Given the description of an element on the screen output the (x, y) to click on. 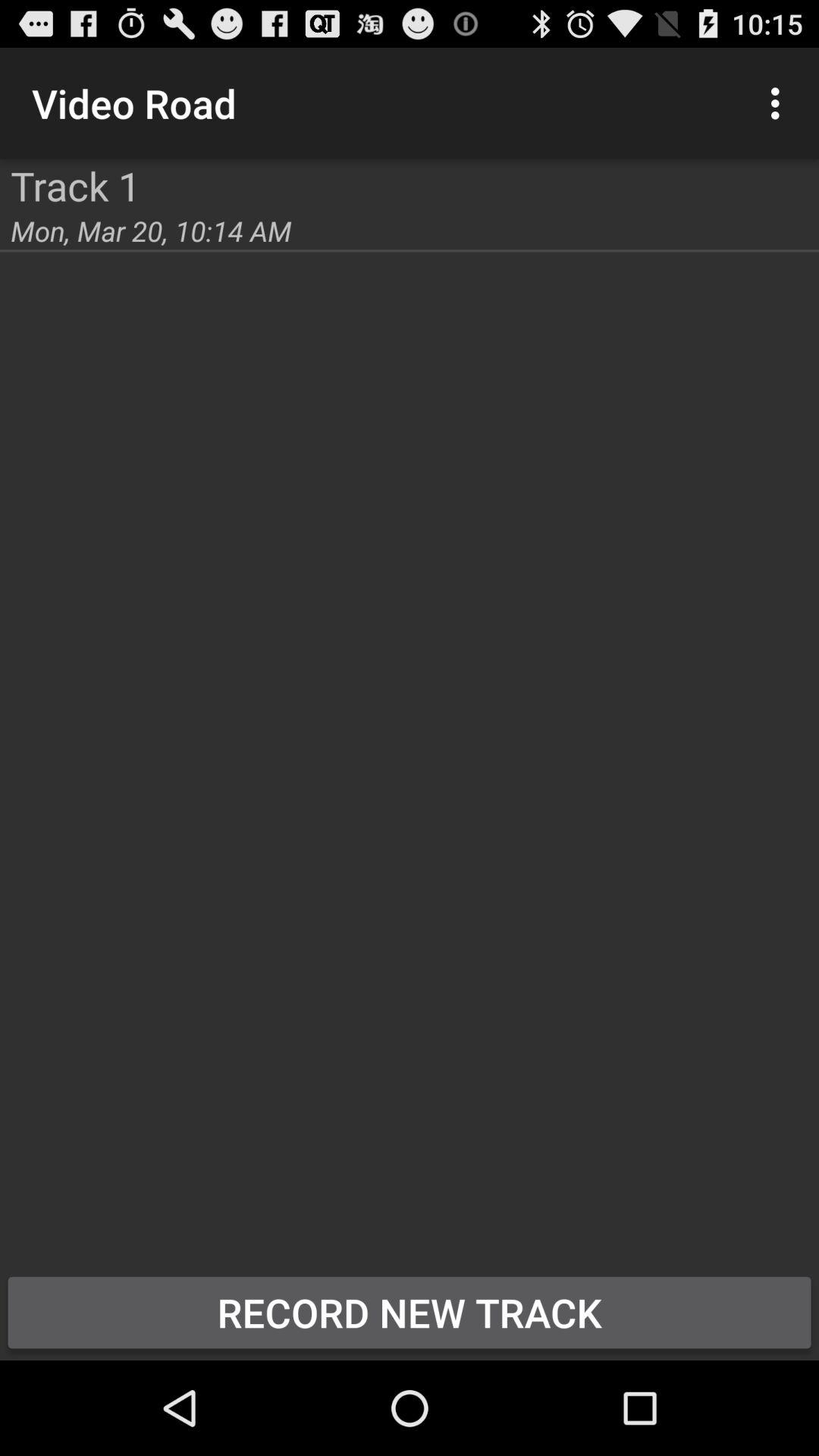
launch the icon below the track 1 item (150, 230)
